Given the description of an element on the screen output the (x, y) to click on. 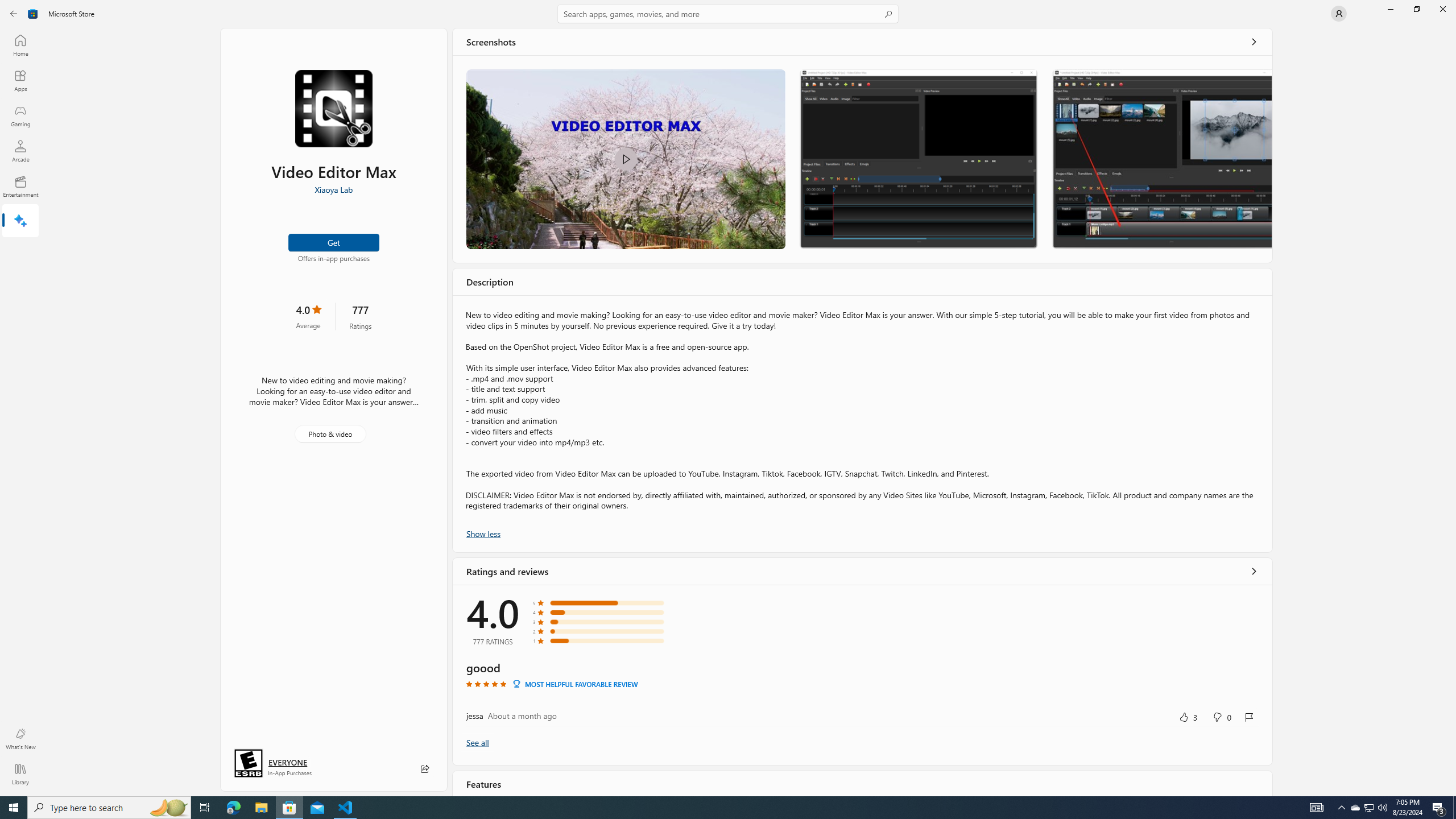
AI Hub (20, 221)
AutomationID: NavigationControl (728, 398)
Back (13, 13)
Xiaoya Lab (333, 189)
Restore Microsoft Store (1416, 9)
Photo & video (329, 434)
No, this was not helpful. 0 votes. (1222, 716)
Get (334, 241)
User profile (1338, 13)
Class: Image (624, 158)
Library (20, 773)
Report review (1248, 717)
See all (1253, 41)
Show all ratings and reviews (1253, 570)
Home (20, 45)
